Given the description of an element on the screen output the (x, y) to click on. 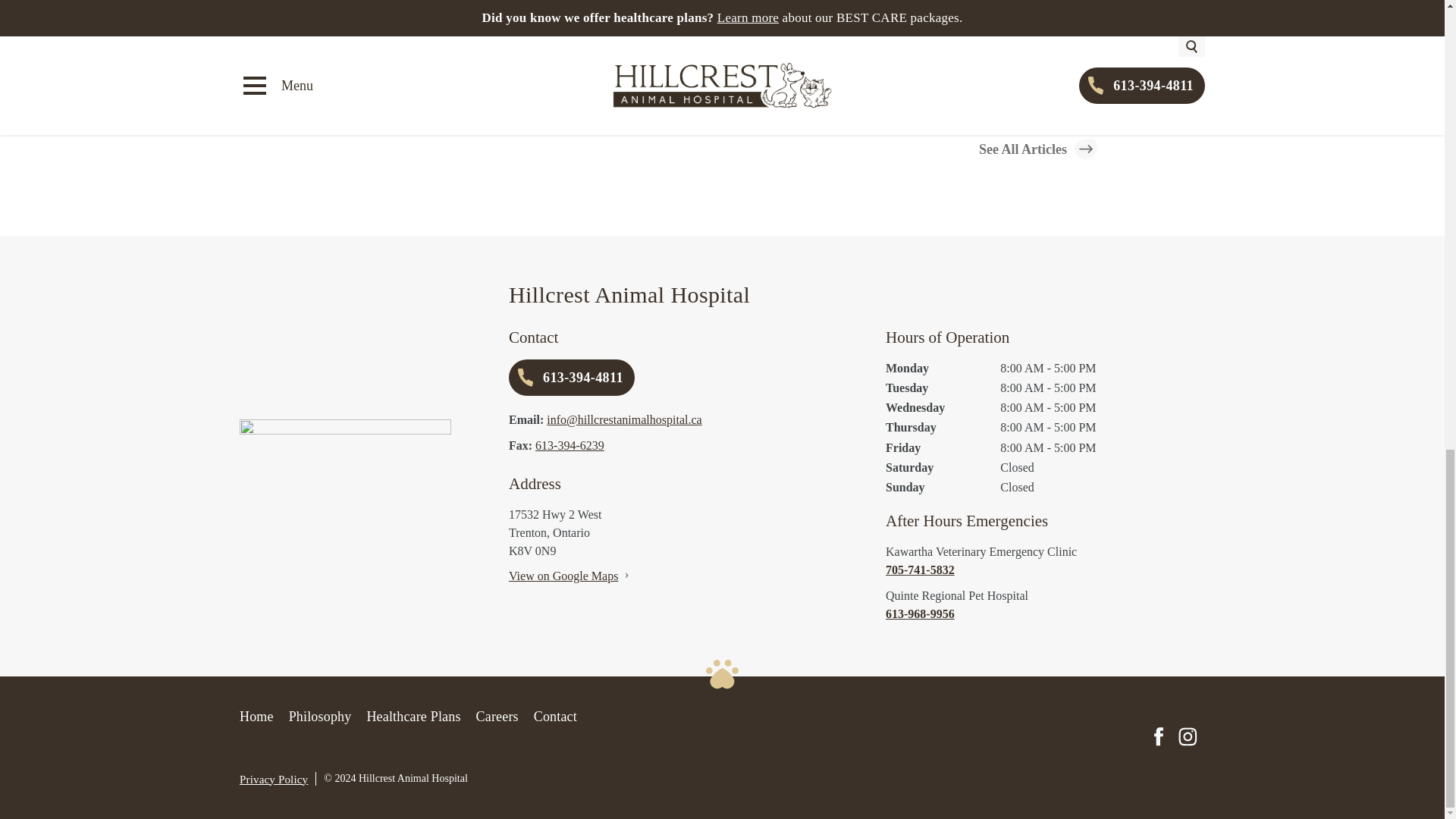
View on Google Maps (562, 575)
613-394-6239 (569, 445)
705-741-5832 (1045, 570)
613-394-4811 (571, 377)
See All Articles (1037, 148)
